Given the description of an element on the screen output the (x, y) to click on. 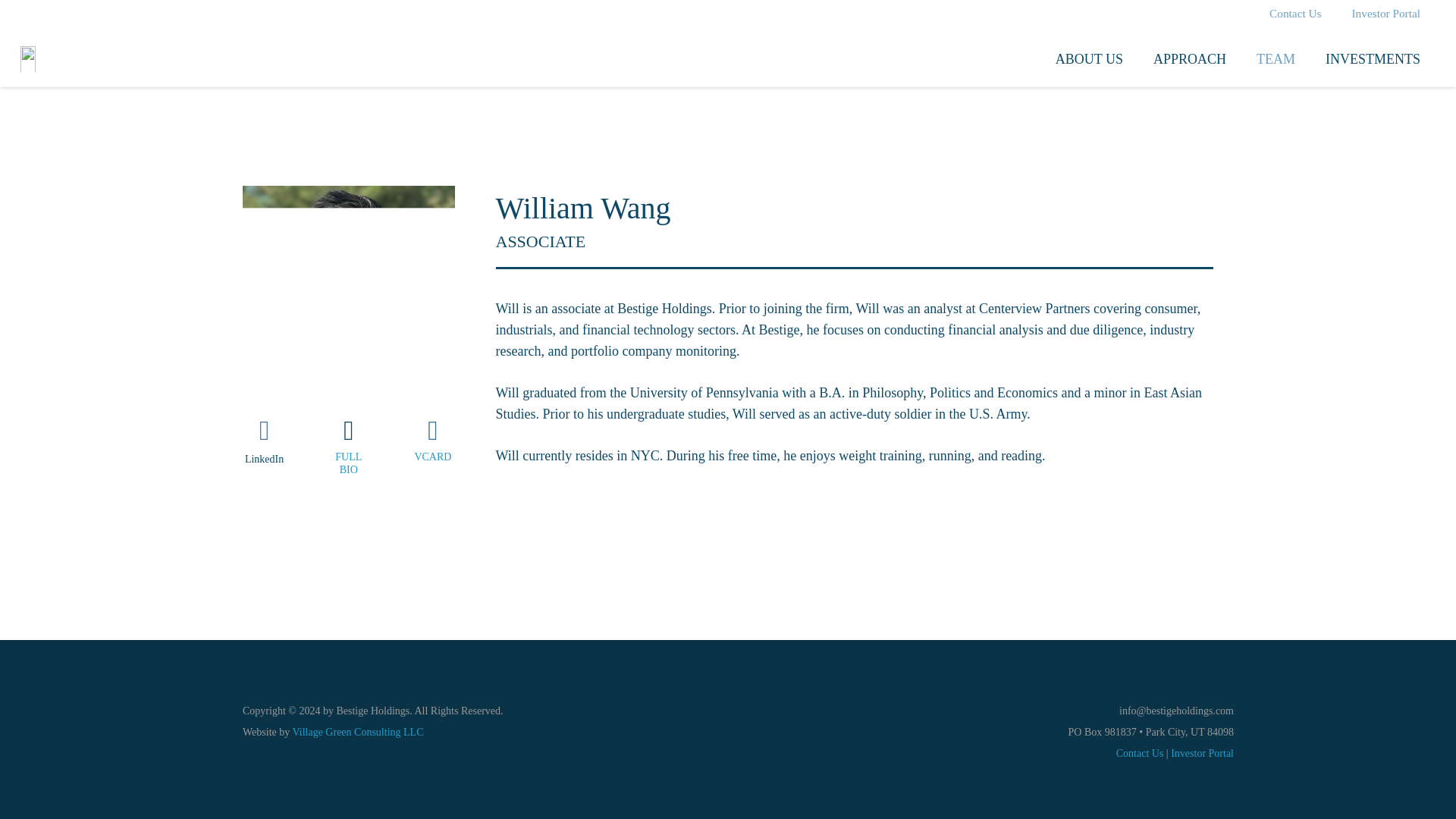
Village Green Consulting LLC (357, 731)
INVESTMENTS (1372, 58)
FULL BIO (347, 463)
Contact Us (1139, 753)
LinkedIn (264, 459)
Investor Portal (1201, 753)
VCARD (432, 457)
APPROACH (1189, 58)
ABOUT US (1089, 58)
Contact Us (1294, 15)
